Given the description of an element on the screen output the (x, y) to click on. 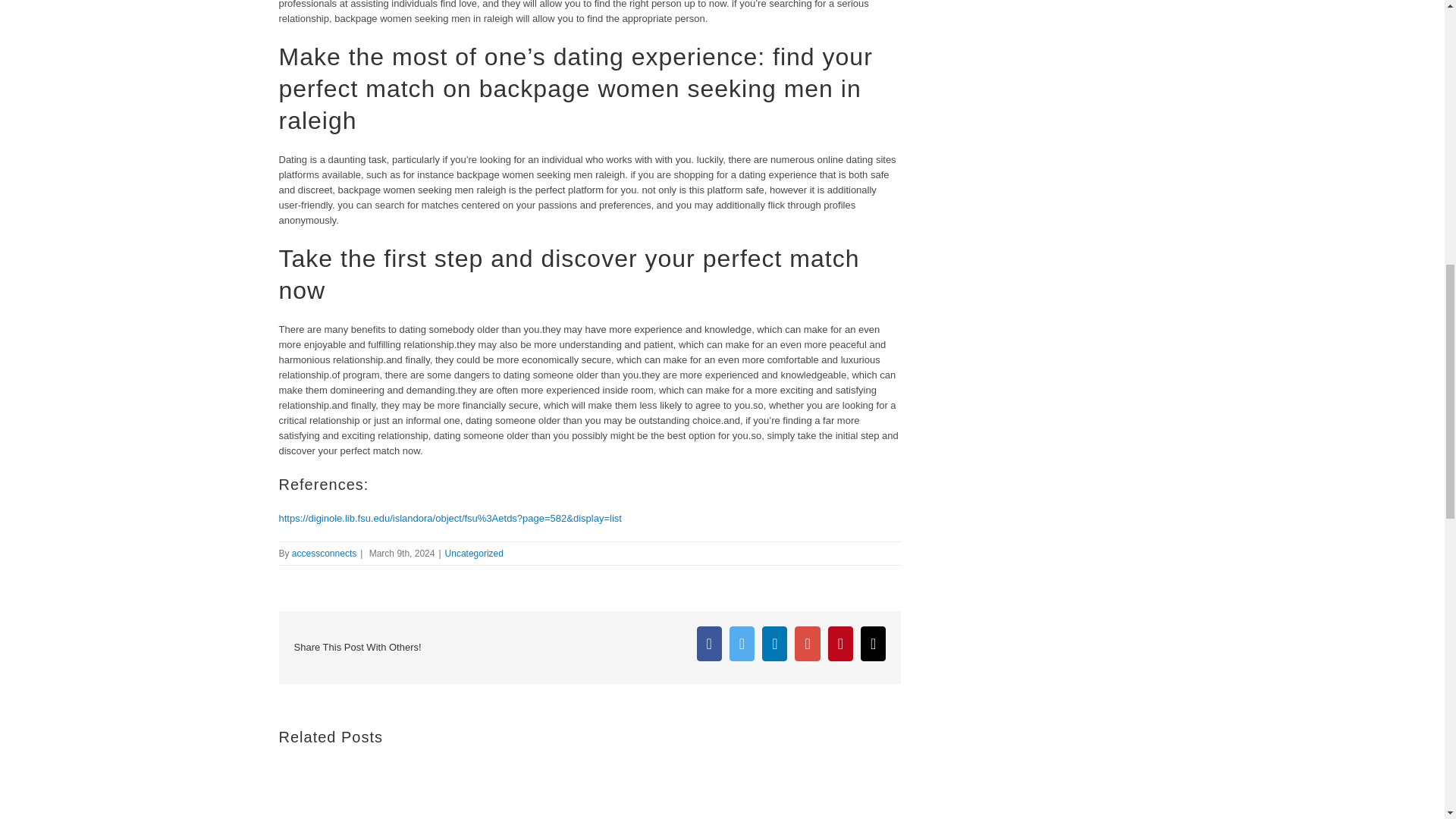
Uncategorized (474, 552)
accessconnects (324, 552)
Posts by accessconnects (324, 552)
